Given the description of an element on the screen output the (x, y) to click on. 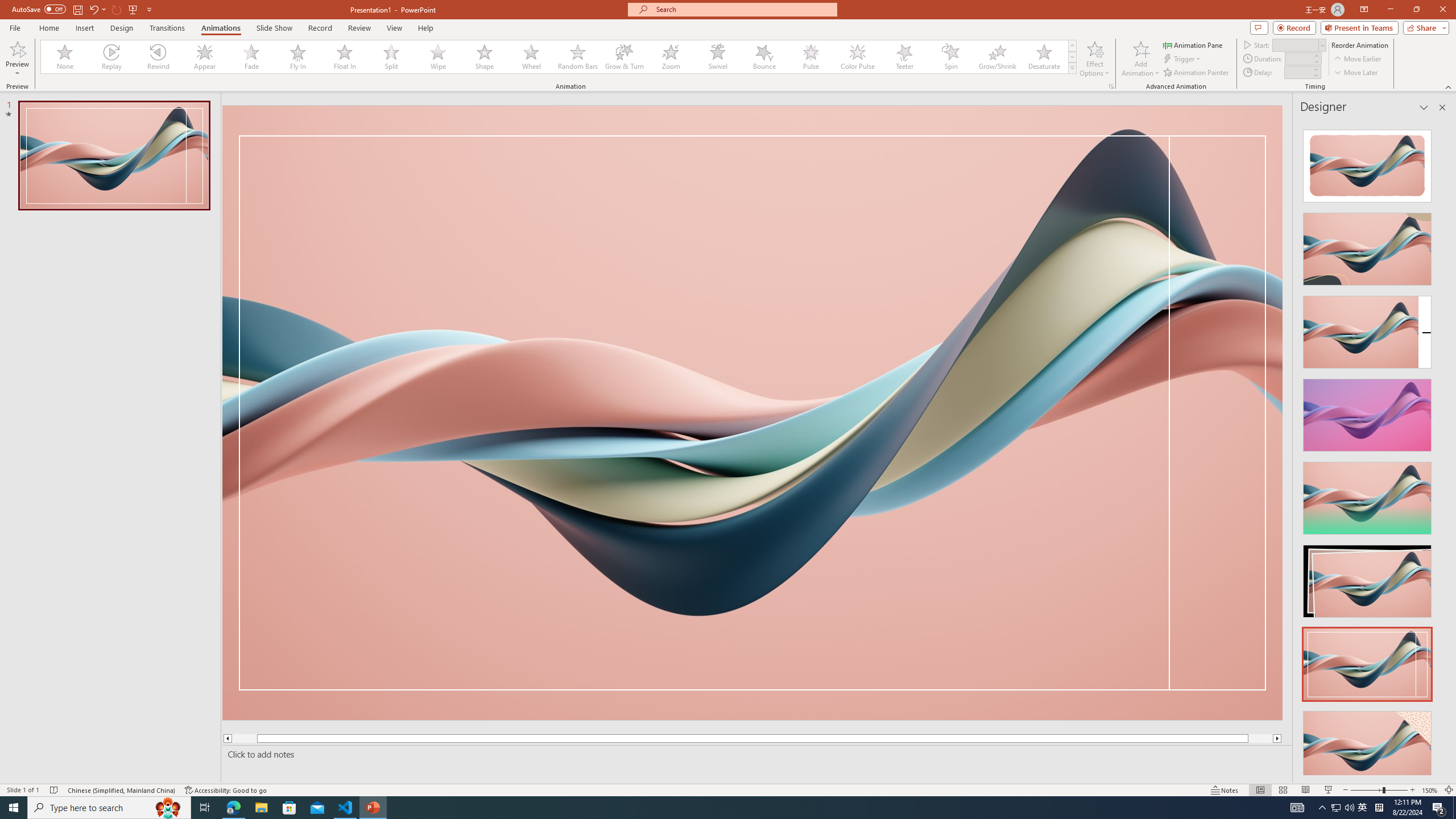
Decorative Locked (752, 412)
Animation Styles (1071, 67)
Desaturate (1043, 56)
Accessibility Checker Accessibility: Good to go (226, 790)
Teeter (903, 56)
None (65, 56)
Pulse (810, 56)
